Given the description of an element on the screen output the (x, y) to click on. 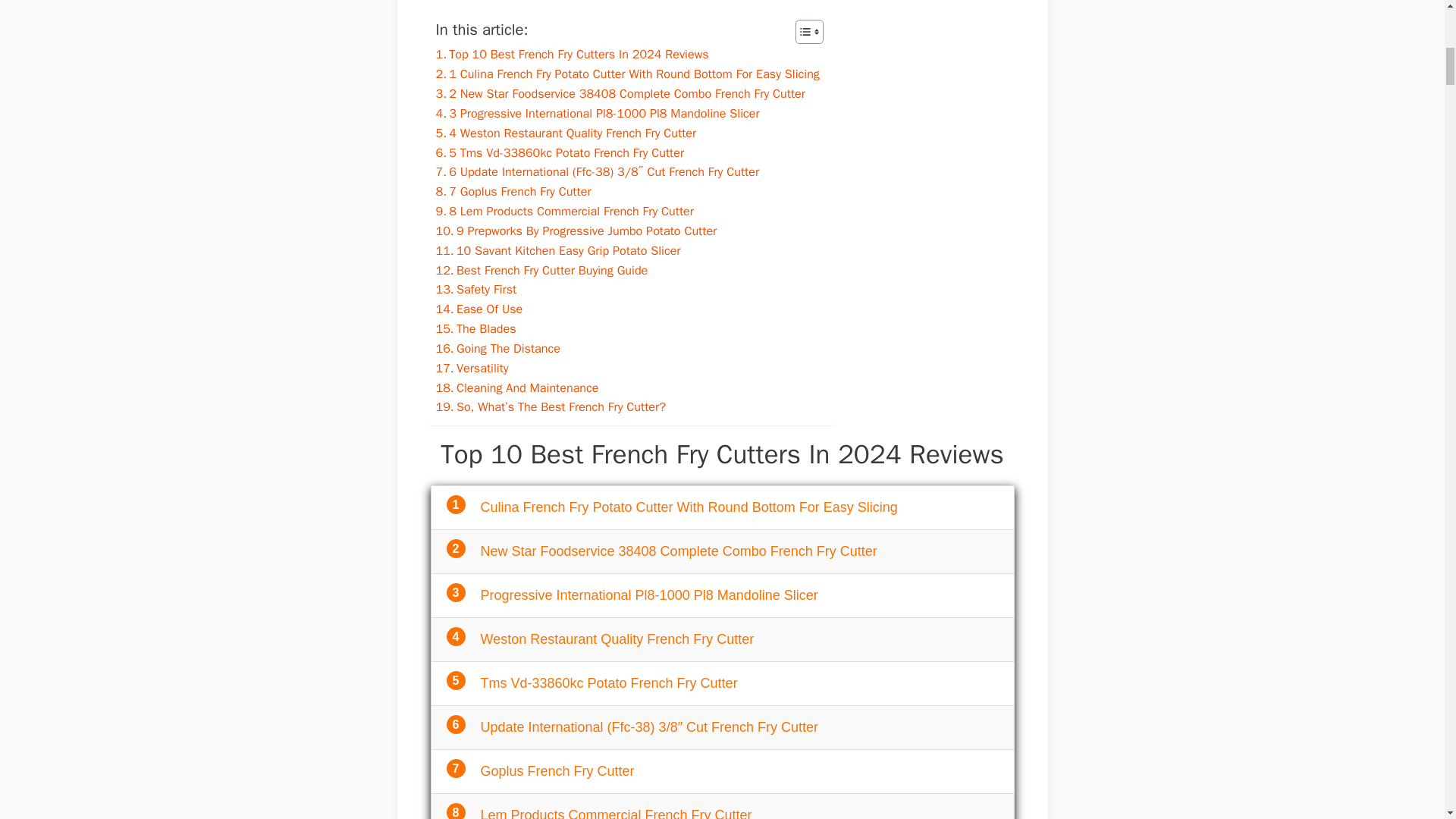
Versatility (471, 368)
10 Savant Kitchen Easy Grip Potato Slicer (557, 250)
4 Weston Restaurant Quality French Fry Cutter (565, 133)
3 Progressive International Pl8-1000 Pl8 Mandoline Slicer (596, 113)
Top 10 Best French Fry Cutters In 2024 Reviews (571, 54)
New Star Foodservice 38408 Complete Combo French Fry Cutter (678, 550)
5 Tms Vd-33860kc Potato French Fry Cutter (559, 152)
Top 10 Best French Fry Cutters In 2024 Reviews (571, 54)
3 Progressive International Pl8-1000 Pl8 Mandoline Slicer (596, 113)
Weston Restaurant Quality French Fry Cutter (617, 639)
7 Goplus French Fry Cutter (513, 191)
9 Prepworks By Progressive Jumbo Potato Cutter (575, 230)
